Given the description of an element on the screen output the (x, y) to click on. 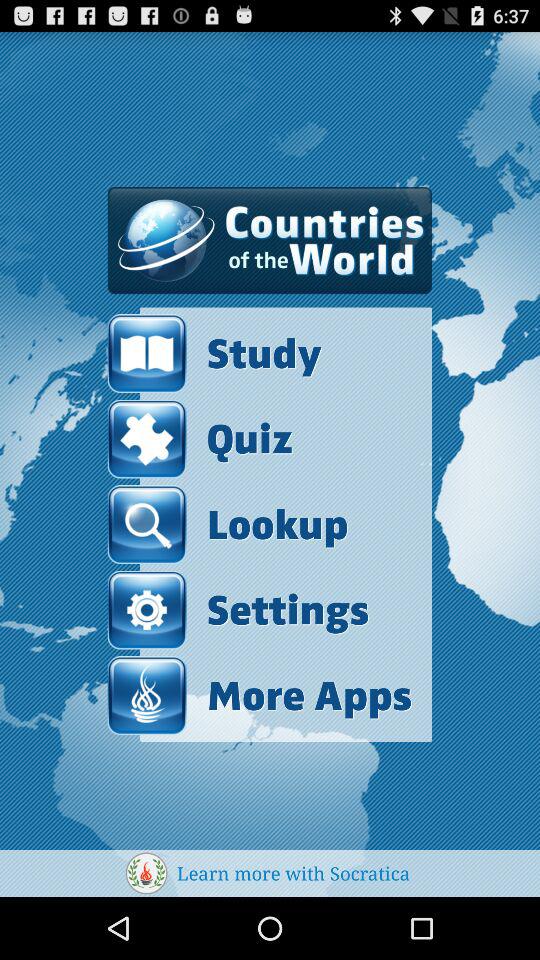
flip to the settings (238, 609)
